Given the description of an element on the screen output the (x, y) to click on. 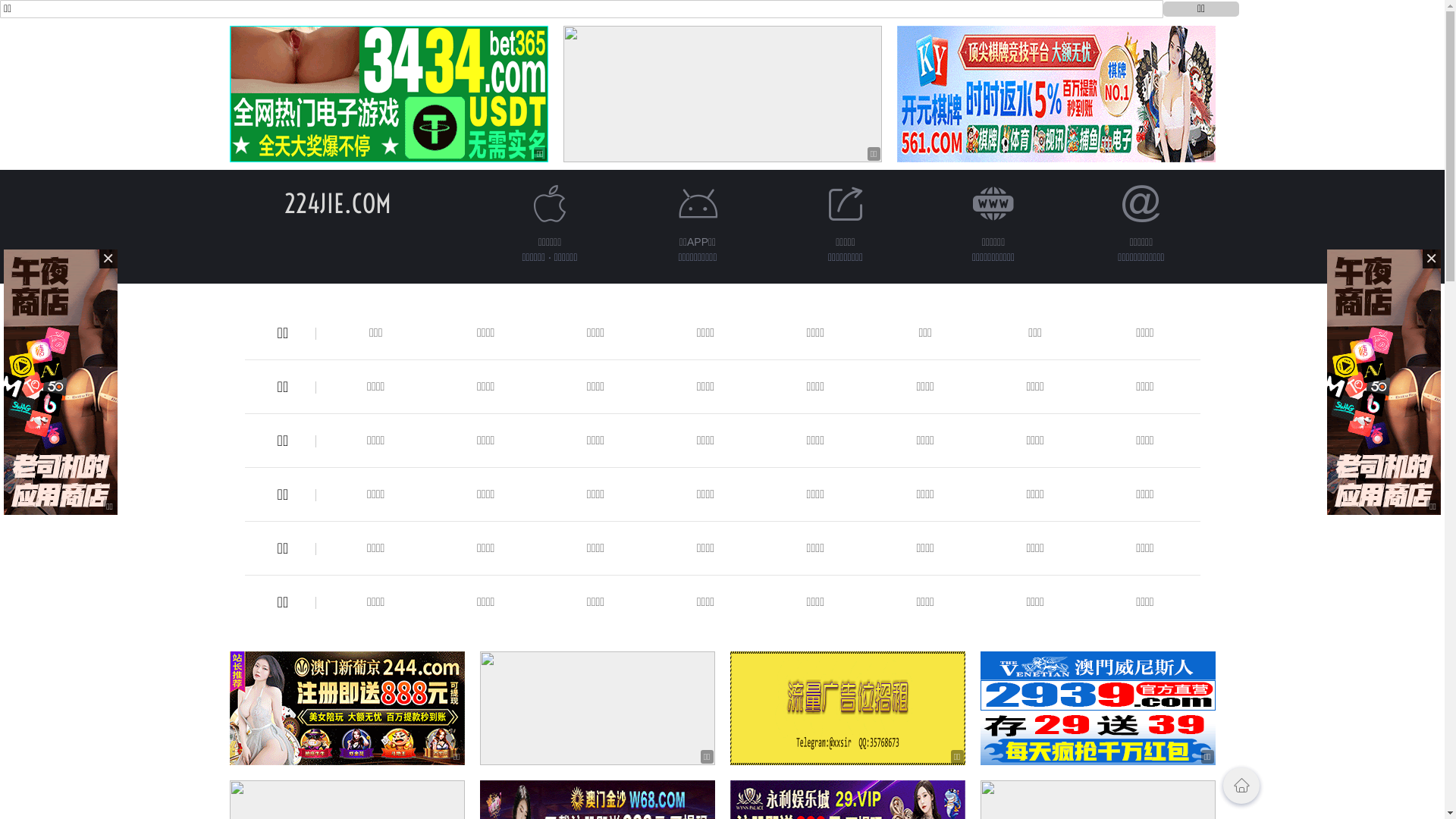
224JIE.COM Element type: text (337, 203)
